Given the description of an element on the screen output the (x, y) to click on. 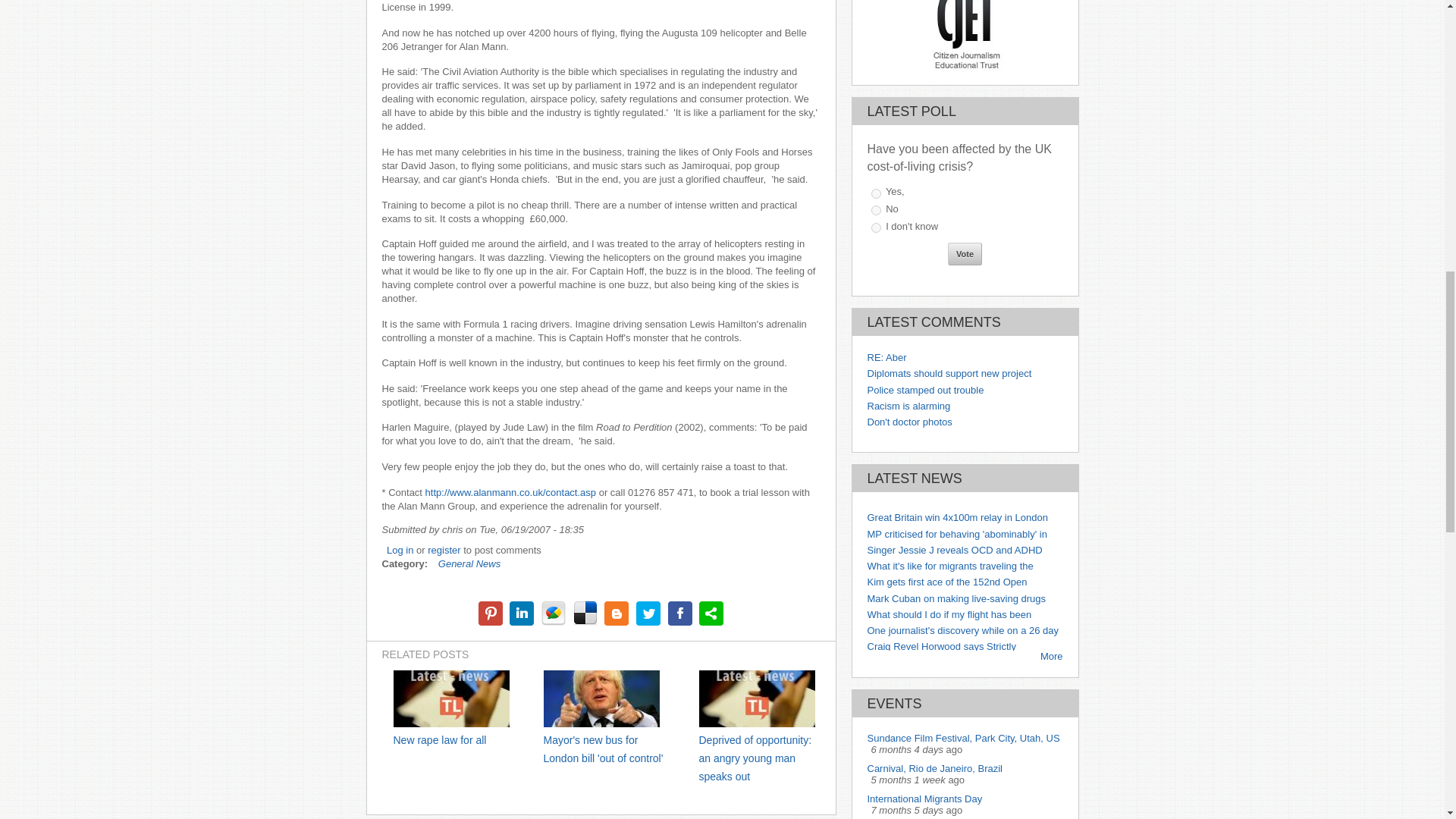
Vote (964, 253)
Log in (400, 550)
47 (875, 194)
General News (469, 563)
register (444, 550)
49 (875, 227)
48 (875, 210)
